Given the description of an element on the screen output the (x, y) to click on. 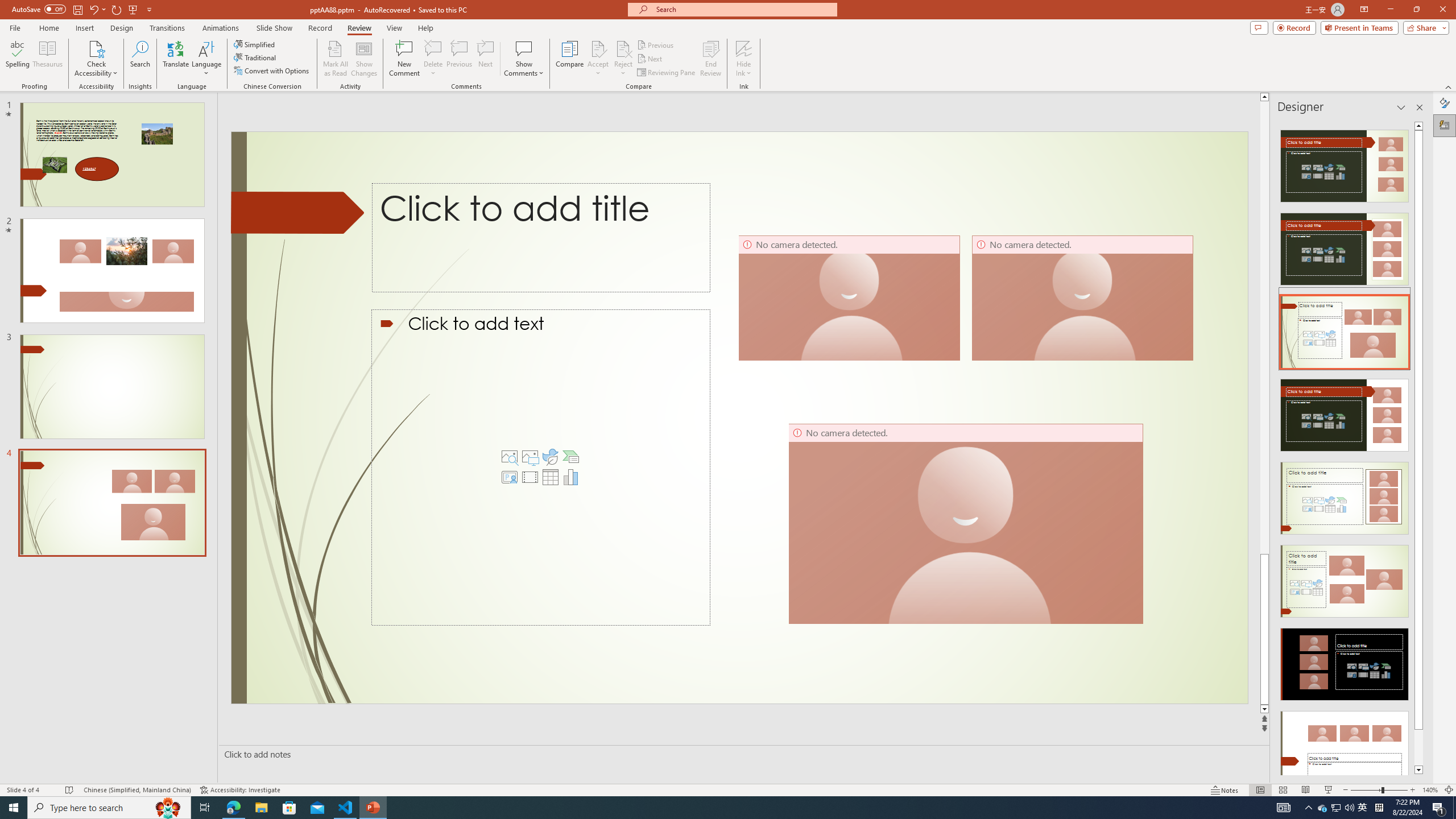
Language (206, 58)
Reviewing Pane (666, 72)
Camera 5, No camera detected. (849, 298)
Insert Table (550, 477)
